Given the description of an element on the screen output the (x, y) to click on. 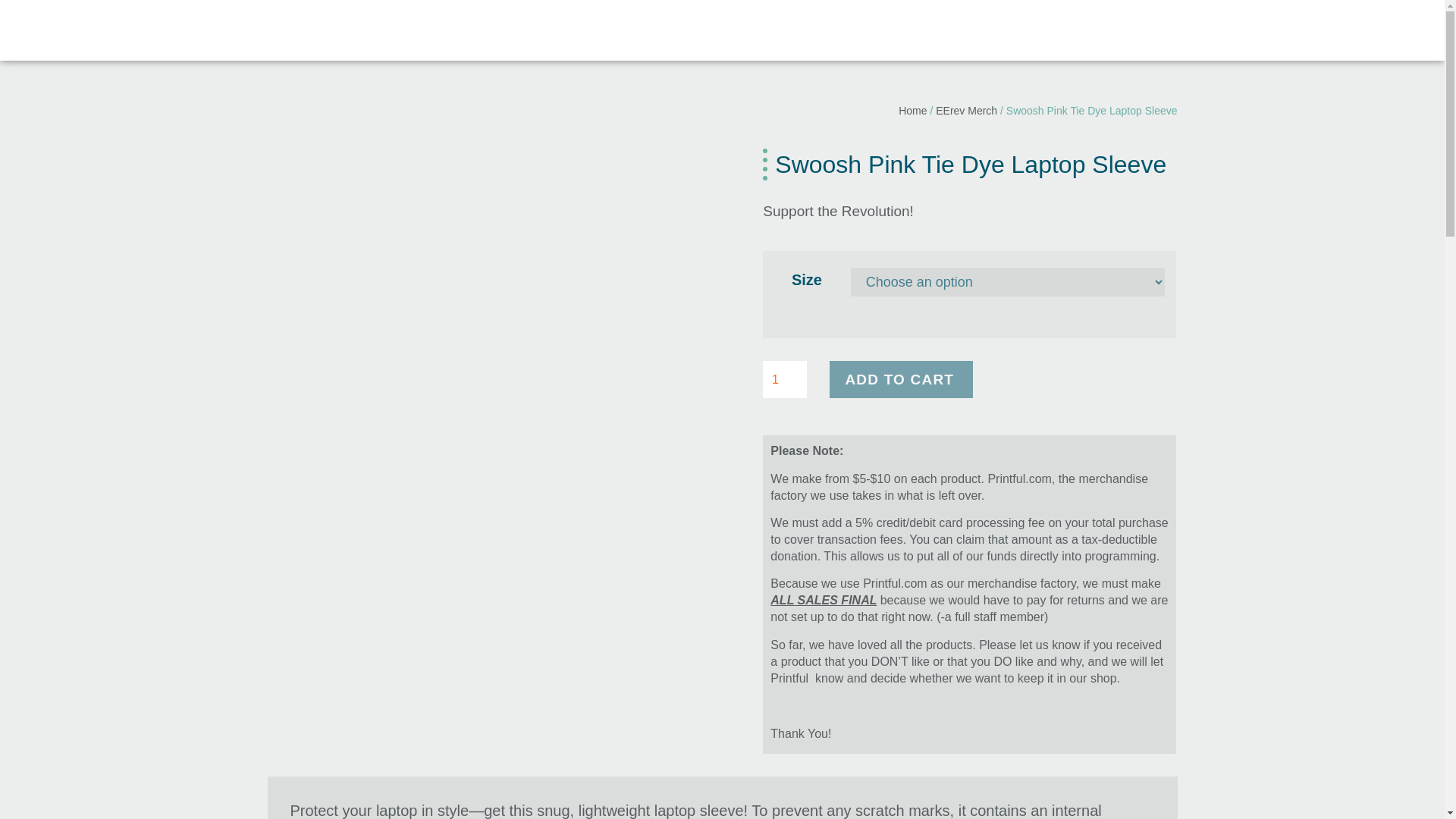
1 (784, 379)
EErev Merch (966, 110)
ADD TO CART (900, 379)
Home (912, 110)
